Given the description of an element on the screen output the (x, y) to click on. 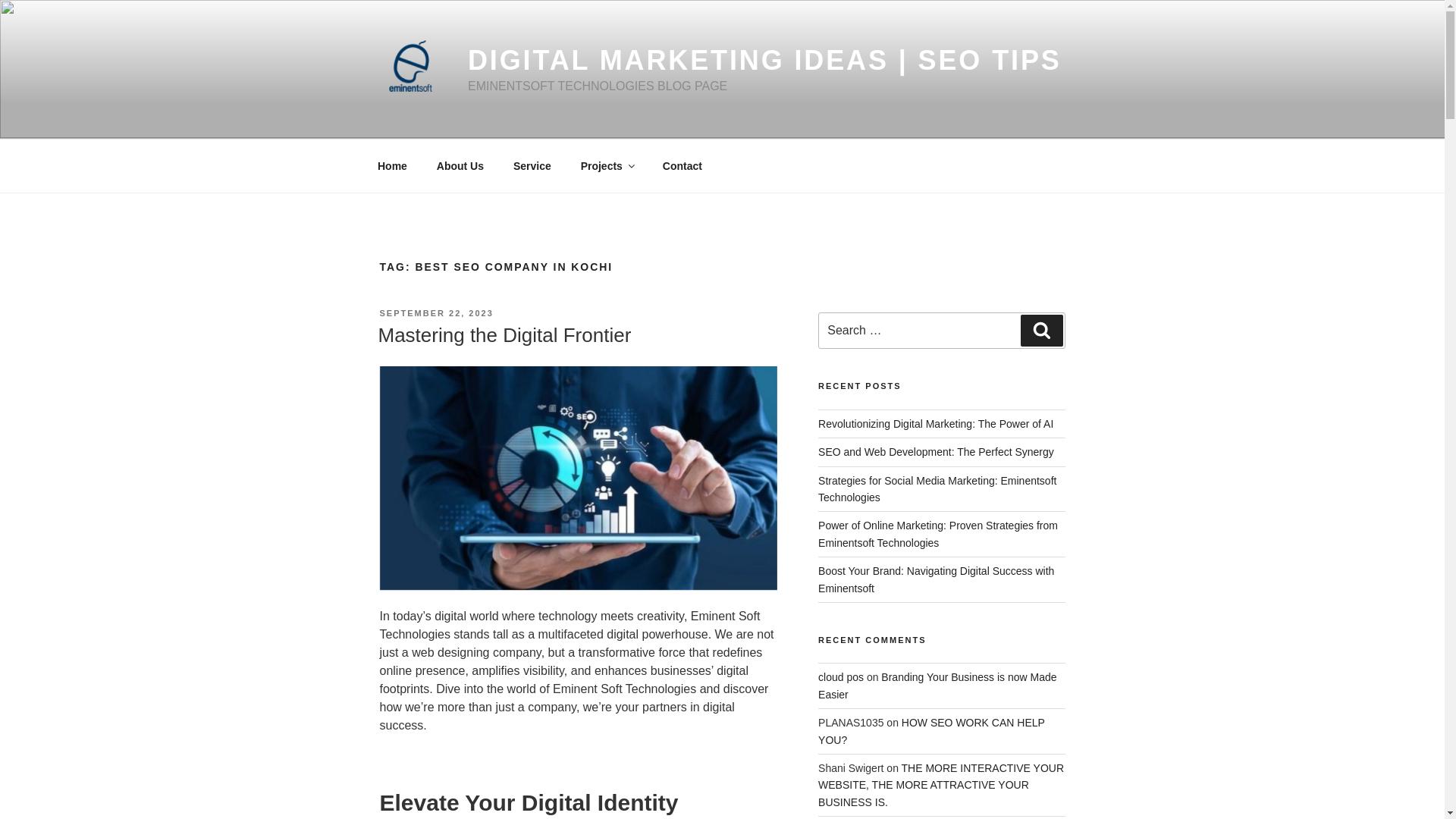
HOW SEO WORK CAN HELP YOU? (931, 730)
Branding Your Business is now Made Easier (937, 685)
cloud pos (840, 676)
SEPTEMBER 22, 2023 (435, 312)
About Us (459, 165)
Contact (681, 165)
Search (1041, 330)
Projects (606, 165)
